Given the description of an element on the screen output the (x, y) to click on. 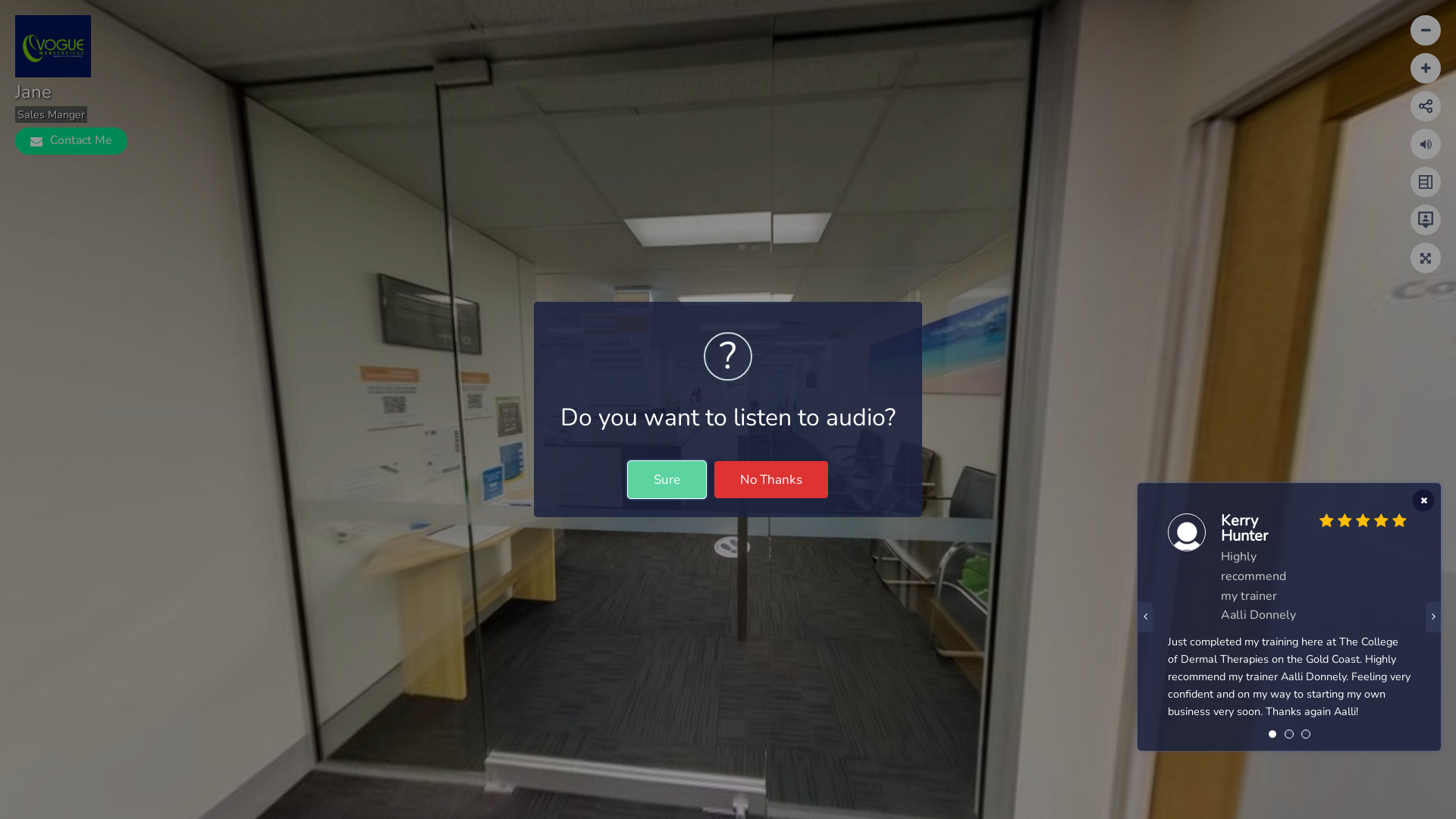
Live Chat Element type: hover (1425, 219)
Zoom In Element type: hover (1425, 30)
3 Element type: text (1305, 738)
Full Screen Element type: hover (1425, 257)
2 Element type: text (1288, 738)
Social Share Element type: hover (1425, 105)
Sure Element type: text (666, 479)
Zoom Out Element type: hover (1425, 68)
No Thanks Element type: text (771, 479)
Floor Plan Element type: hover (1425, 181)
1 Element type: text (1271, 738)
